Given the description of an element on the screen output the (x, y) to click on. 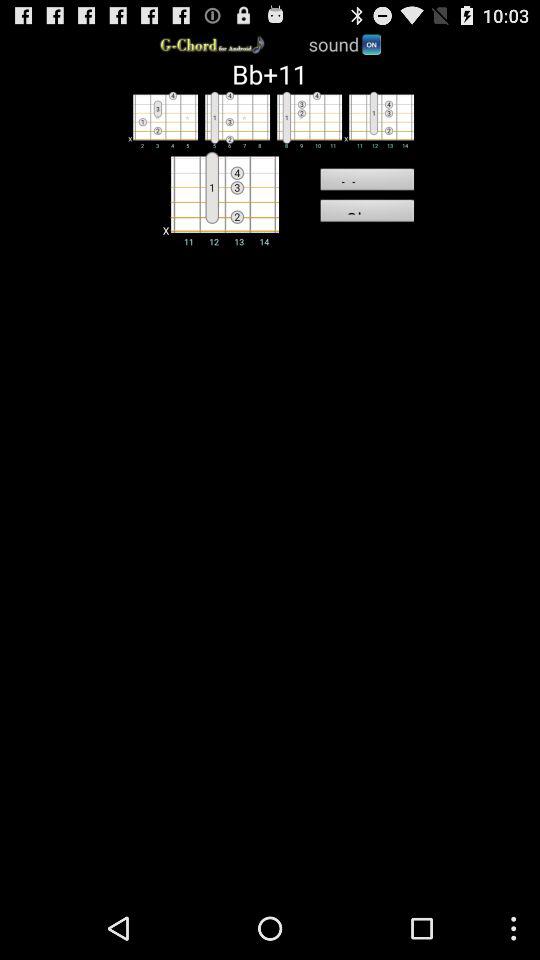
select the chord to expand (218, 197)
